Given the description of an element on the screen output the (x, y) to click on. 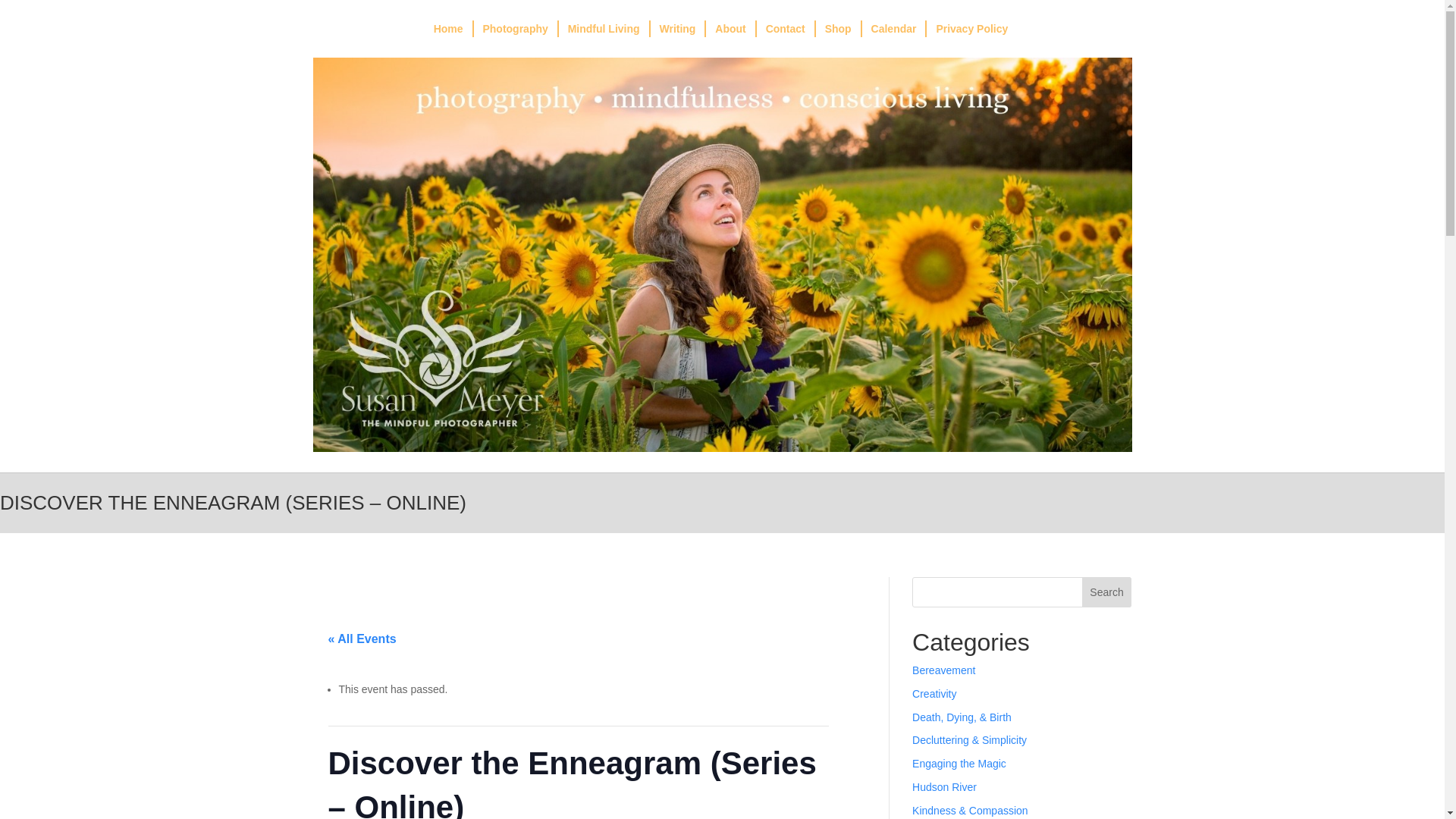
Calendar (894, 28)
Search (1106, 592)
Mindful Living (604, 28)
Privacy Policy (971, 28)
About (730, 28)
Shop (838, 28)
Contact (786, 28)
Photography (515, 28)
Home (449, 28)
Writing (677, 28)
